Given the description of an element on the screen output the (x, y) to click on. 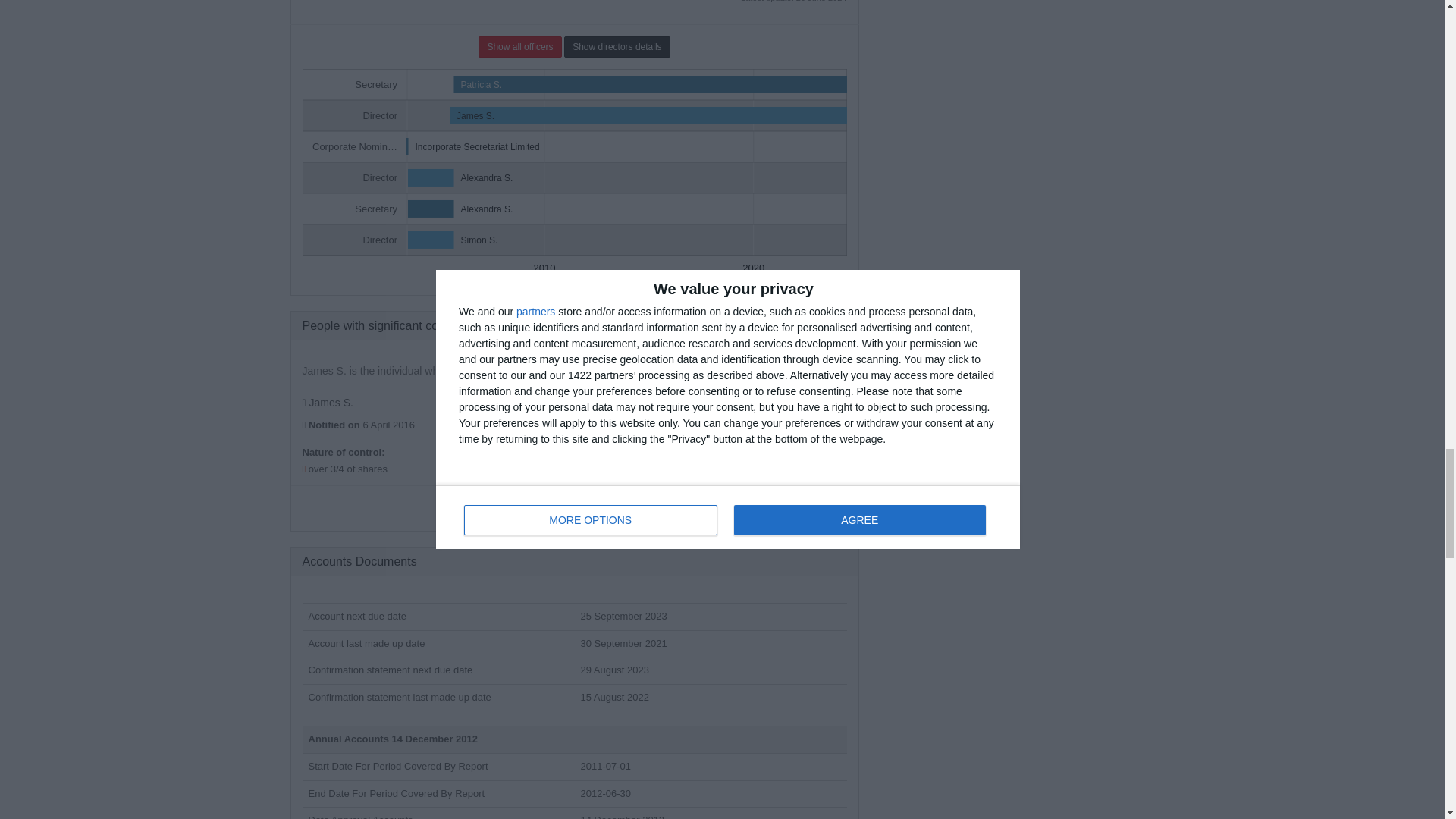
Show directors details (616, 46)
Current (822, 400)
Show all officers (519, 46)
Show PSC filings details (573, 507)
